Given the description of an element on the screen output the (x, y) to click on. 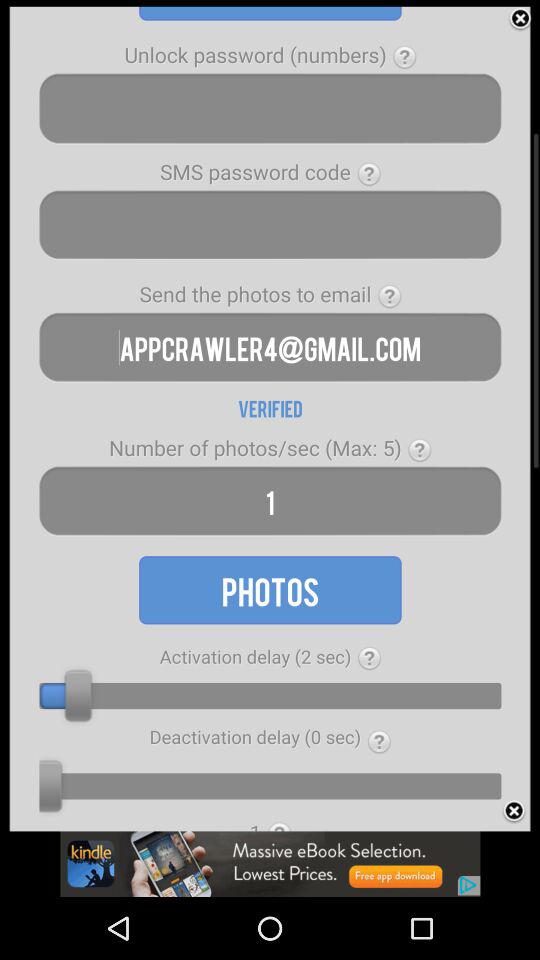
explanation (389, 296)
